Given the description of an element on the screen output the (x, y) to click on. 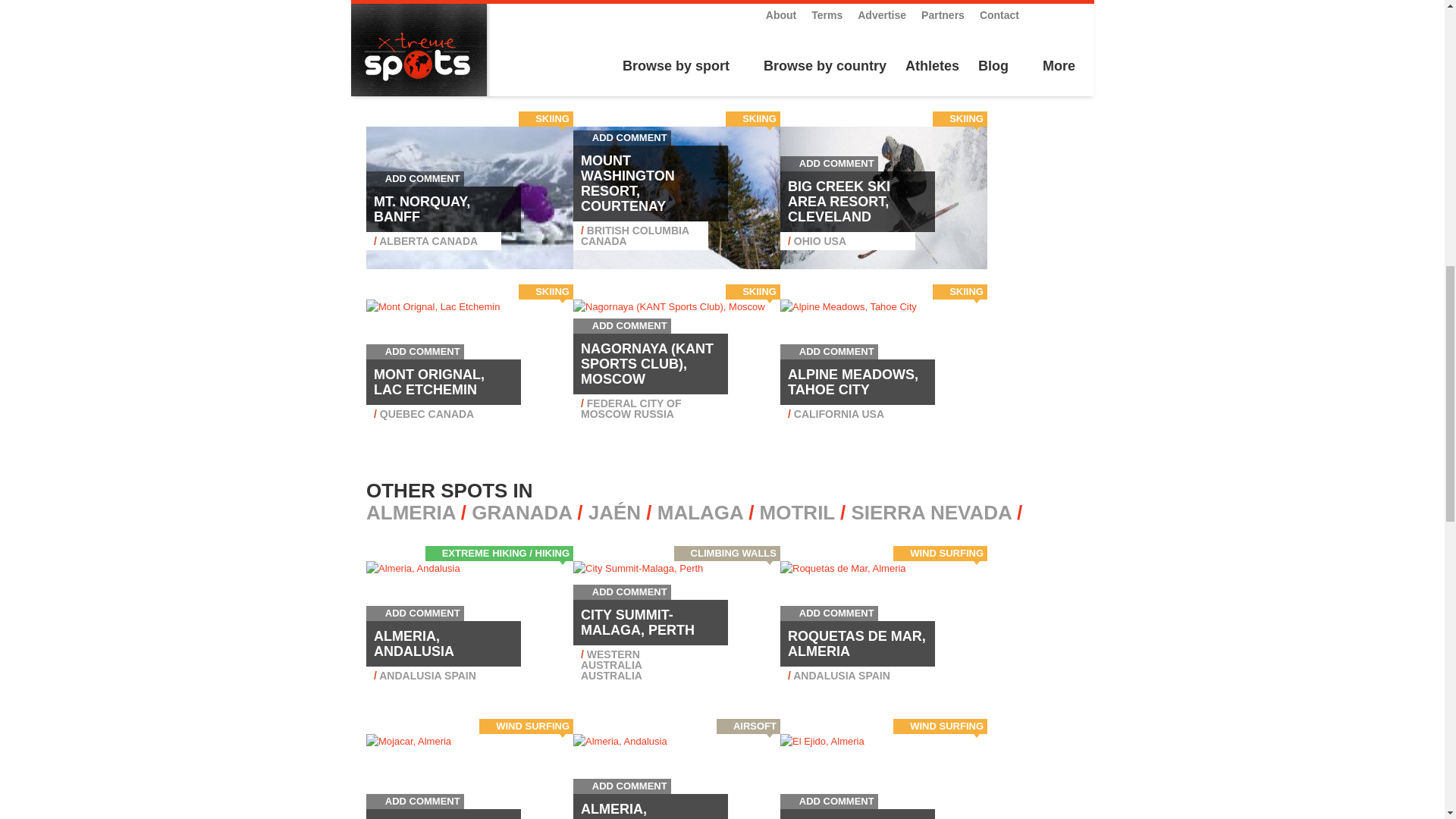
MT. NORQUAY, BANFF (422, 209)
  ADD COMMENT (415, 178)
SKIING (552, 118)
